Given the description of an element on the screen output the (x, y) to click on. 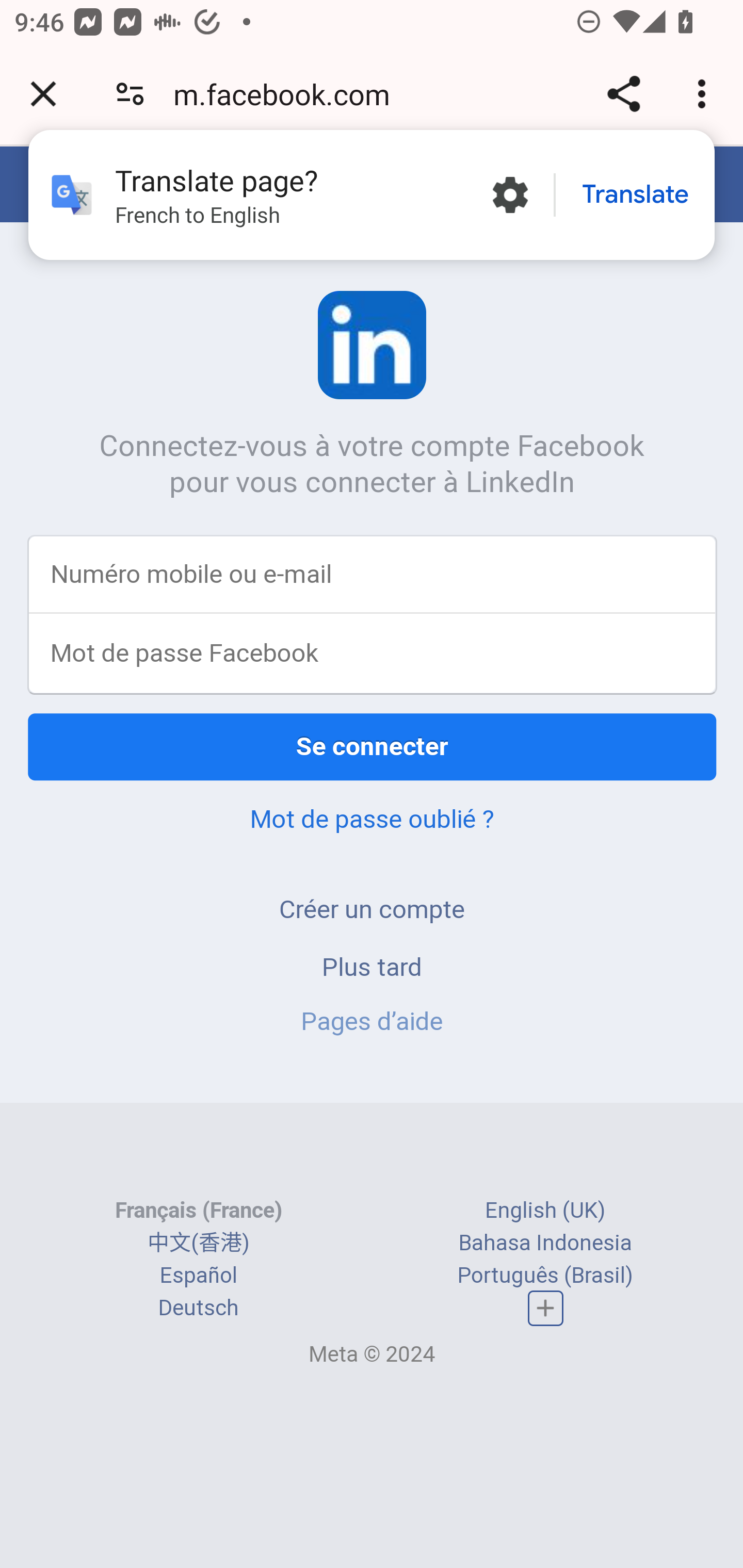
Close tab (43, 93)
Share (623, 93)
Customize and control Google Chrome (705, 93)
Connection is secure (129, 93)
m.facebook.com (288, 93)
Translate (634, 195)
More options in the Translate page? (509, 195)
